Given the description of an element on the screen output the (x, y) to click on. 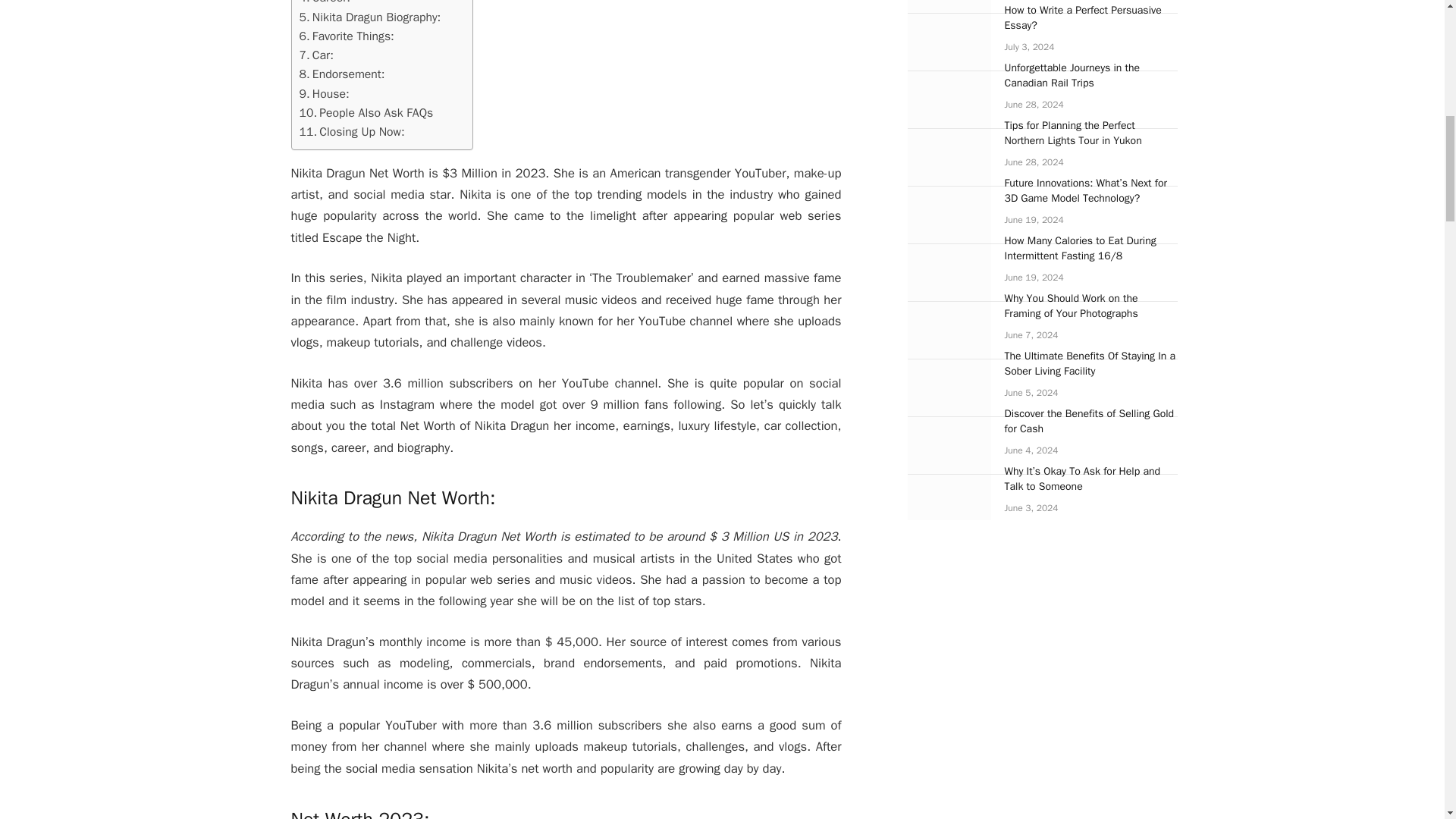
Favorite Things: (345, 36)
Closing Up Now: (351, 131)
Endorsement: (341, 74)
Nikita Dragun Biography: (369, 17)
Career: (323, 3)
House: (323, 94)
Car: (315, 55)
People Also Ask FAQs (365, 113)
